Given the description of an element on the screen output the (x, y) to click on. 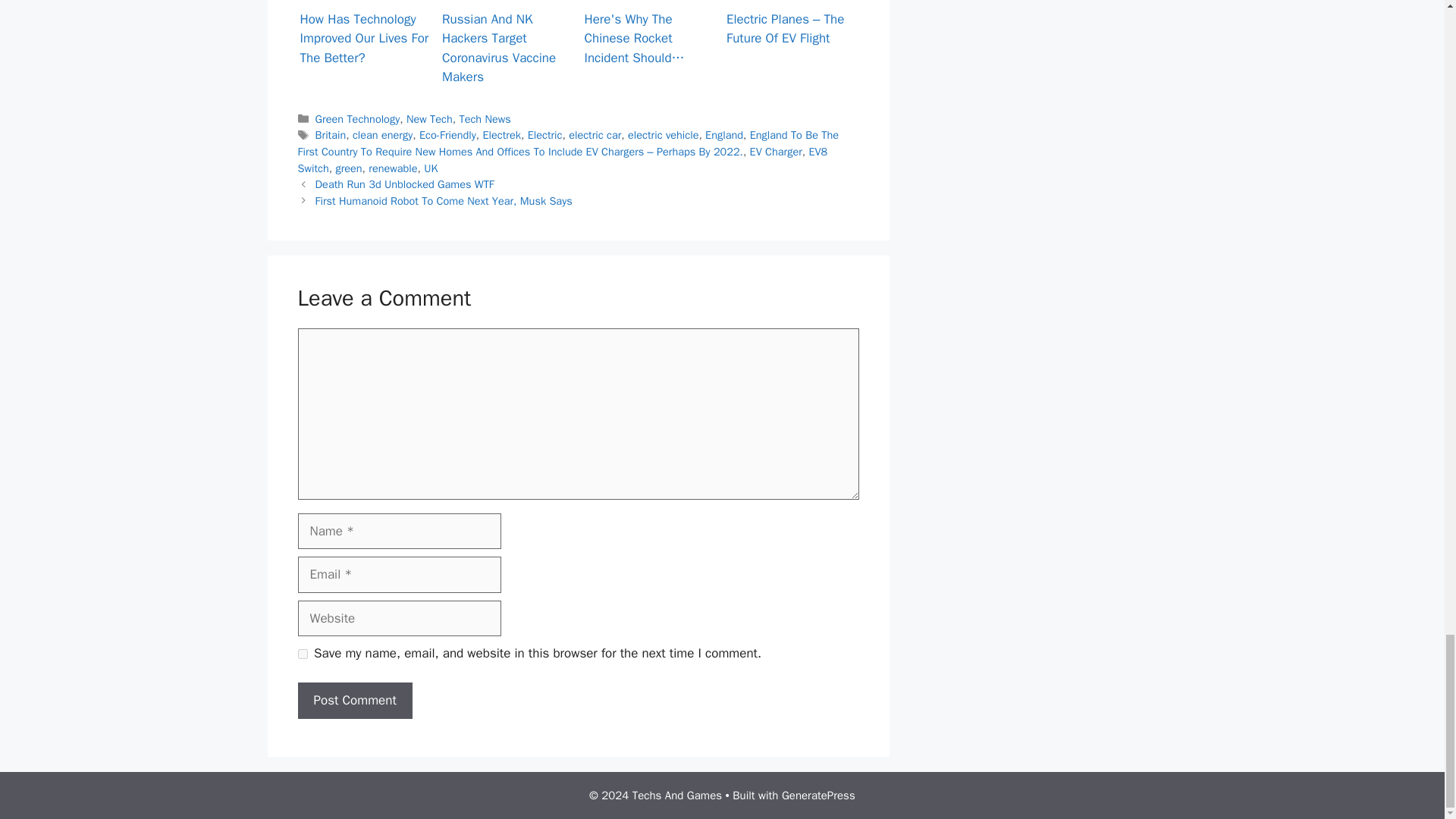
How Has Technology Improved Our Lives For The Better? (364, 4)
yes (302, 654)
Russian And NK Hackers Target Coronavirus Vaccine Makers (506, 4)
Post Comment (354, 700)
